Given the description of an element on the screen output the (x, y) to click on. 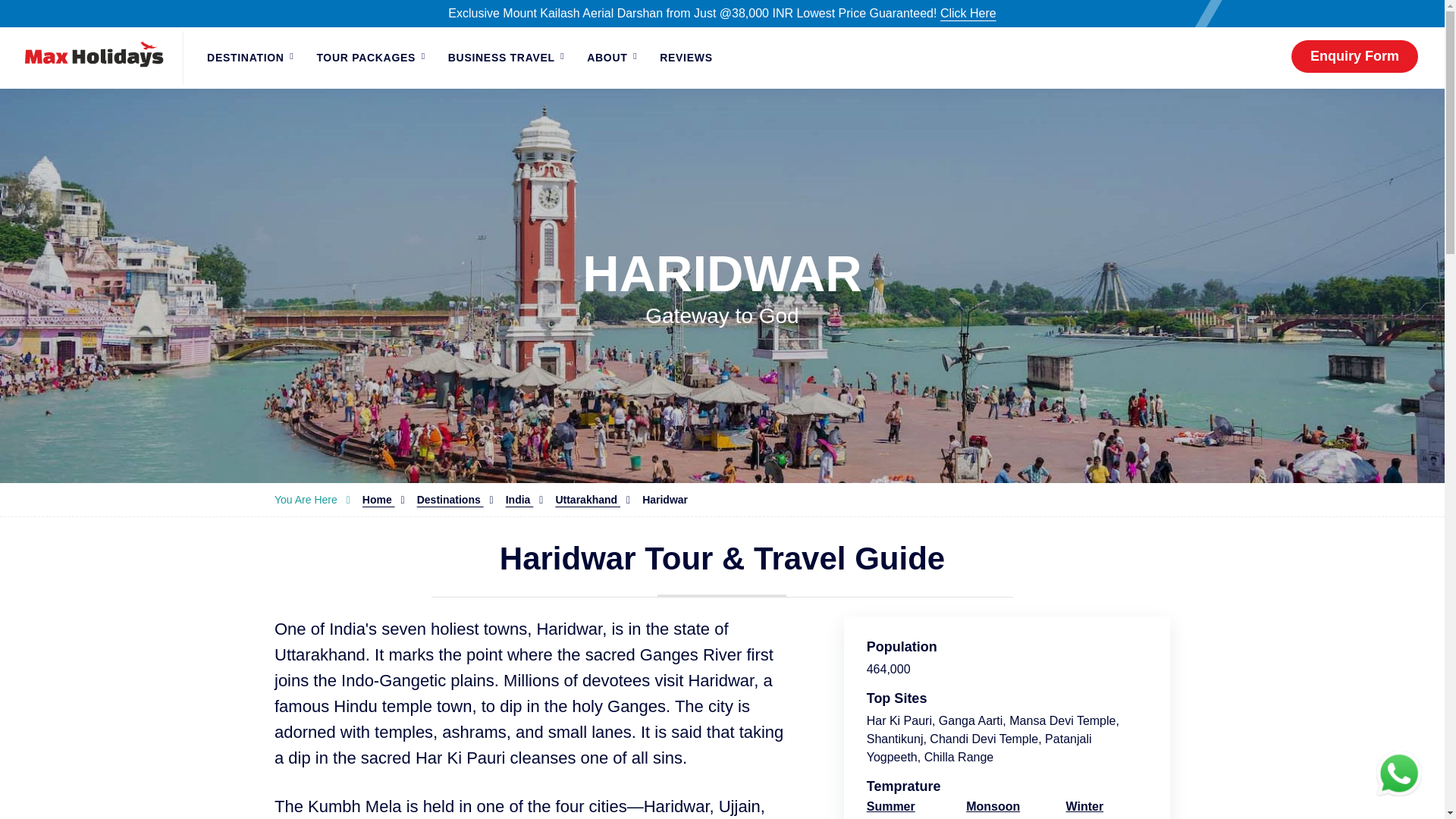
DESTINATION (249, 57)
Click Here (967, 12)
TOUR PACKAGES (369, 57)
